Given the description of an element on the screen output the (x, y) to click on. 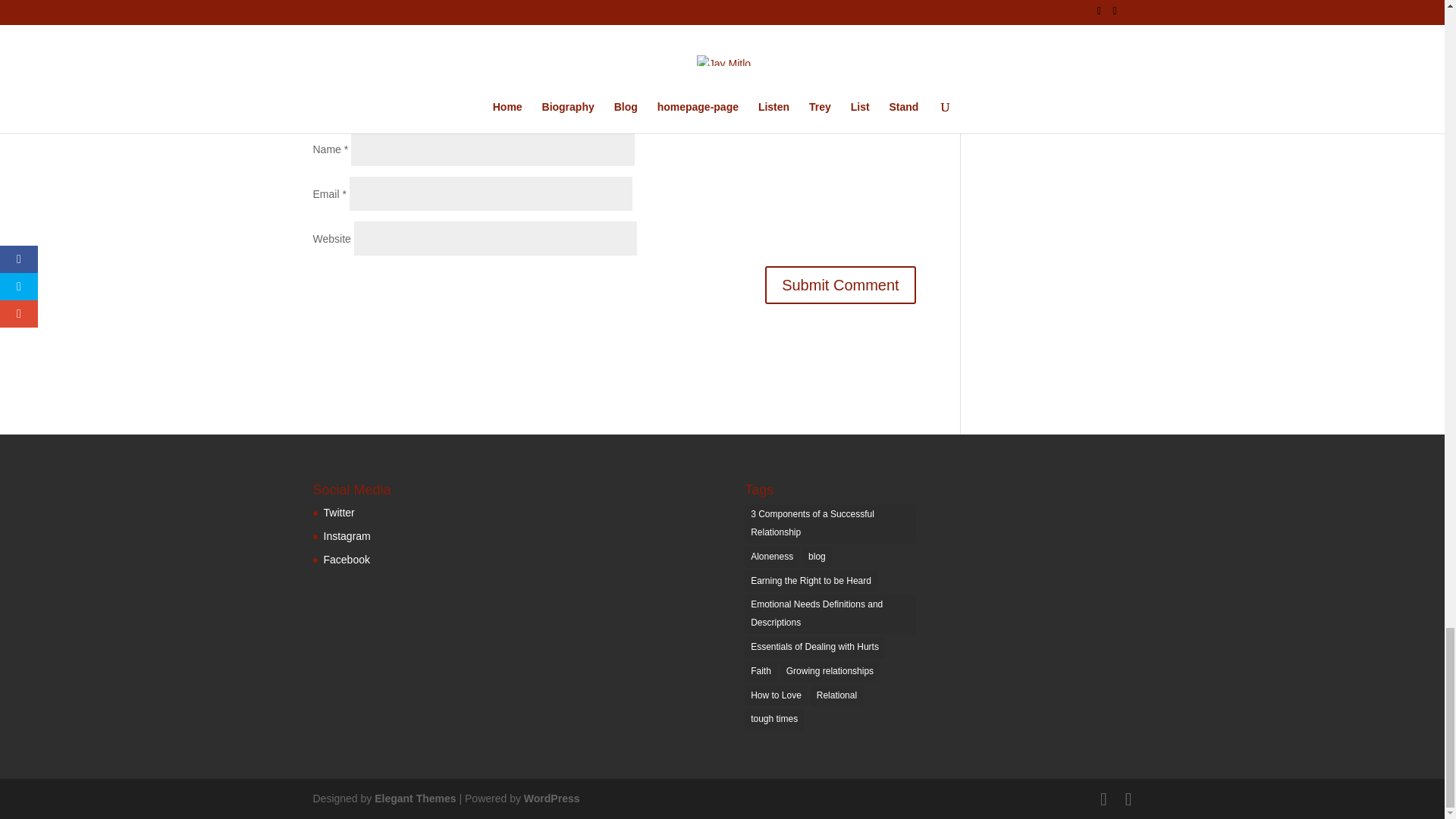
Growing relationships (829, 671)
Relational (836, 695)
Submit Comment (840, 284)
Aloneness (771, 557)
Elegant Themes (414, 798)
Instagram (346, 535)
Emotional Needs Definitions and Descriptions (829, 613)
blog (816, 557)
tough times (773, 719)
Facebook (346, 559)
Twitter (338, 512)
Premium WordPress Themes (414, 798)
Faith (760, 671)
How to Love (776, 695)
WordPress (551, 798)
